Given the description of an element on the screen output the (x, y) to click on. 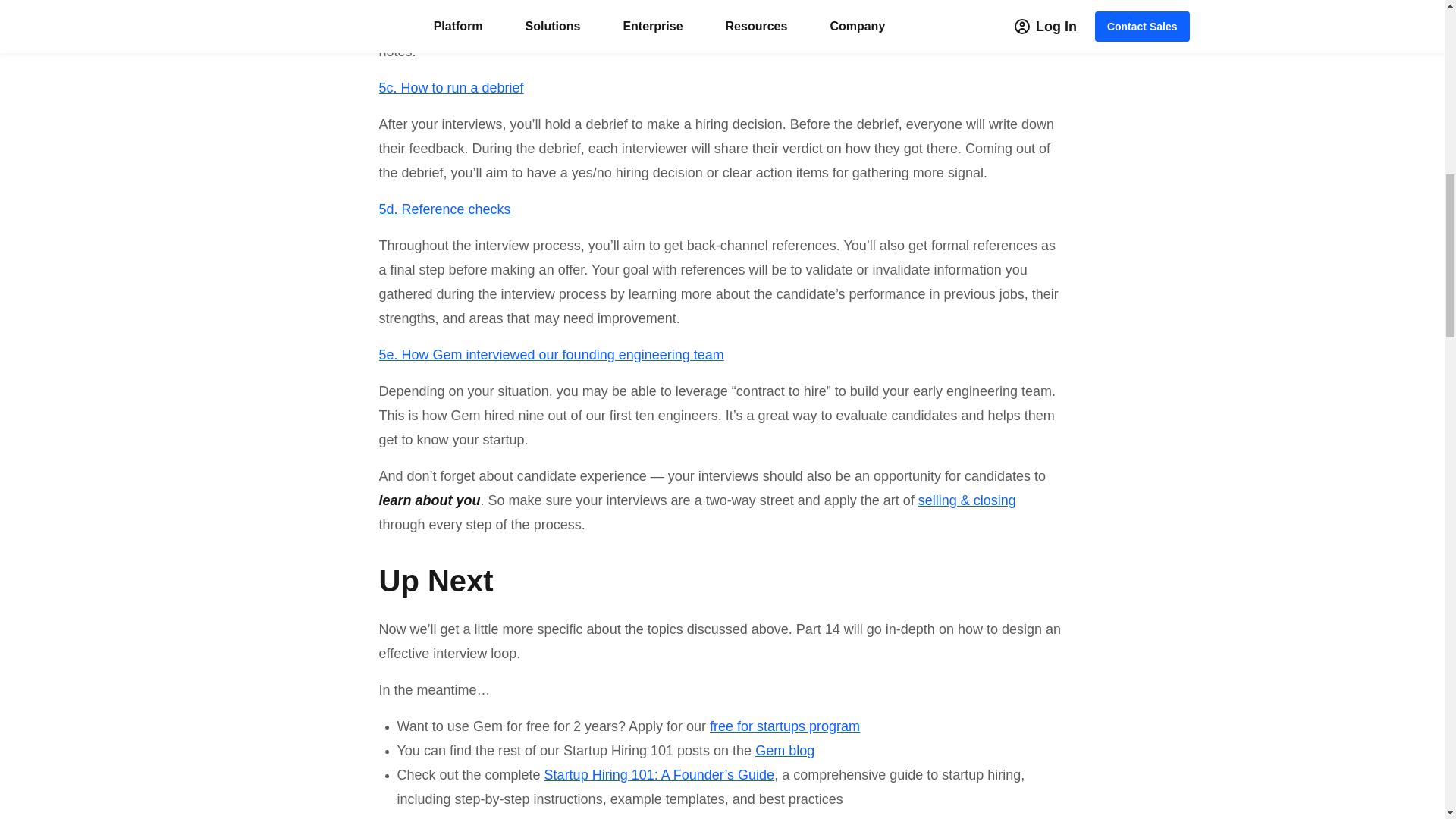
Gem blog (784, 750)
5c. How to run a debrief (451, 87)
5d. Reference checks (444, 209)
free for startups program (783, 726)
5e. How Gem interviewed our founding engineering team (550, 354)
